Given the description of an element on the screen output the (x, y) to click on. 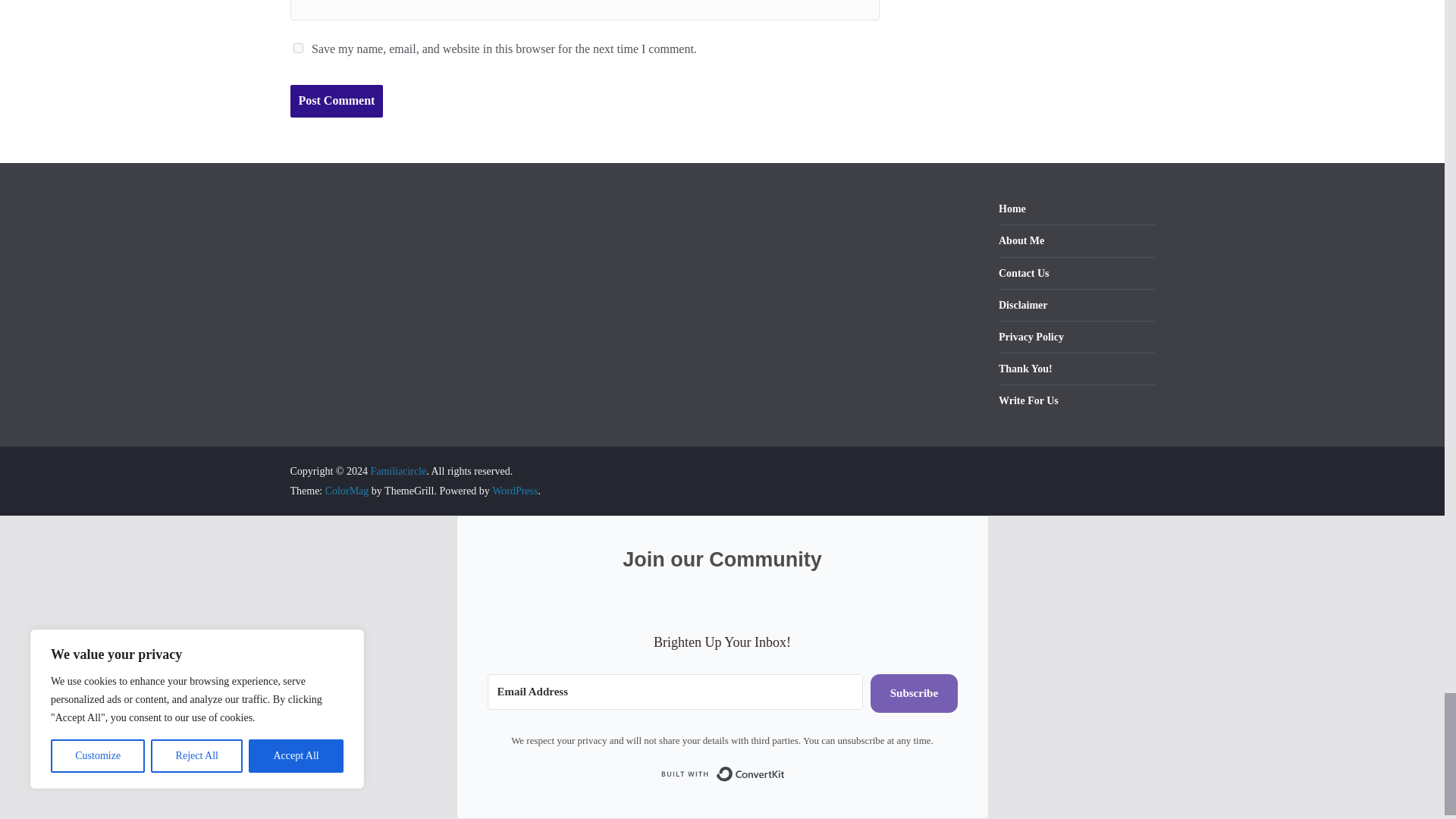
Post Comment (335, 101)
yes (297, 48)
